Given the description of an element on the screen output the (x, y) to click on. 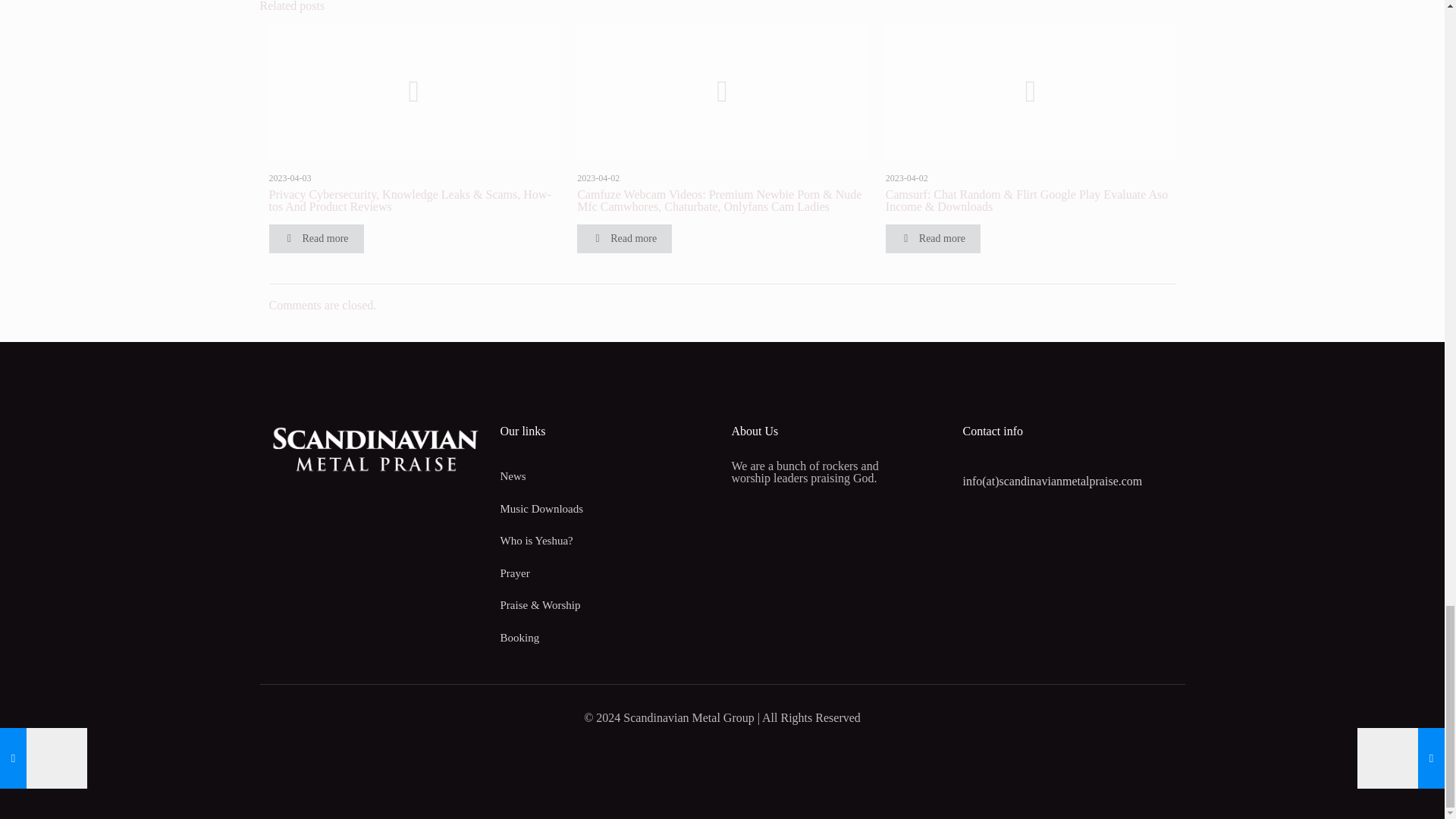
News (606, 476)
Prayer (606, 573)
Who is Yeshua? (606, 540)
Read more (932, 238)
Music Downloads (606, 509)
Read more (623, 238)
Booking (606, 637)
Read more (314, 238)
